Given the description of an element on the screen output the (x, y) to click on. 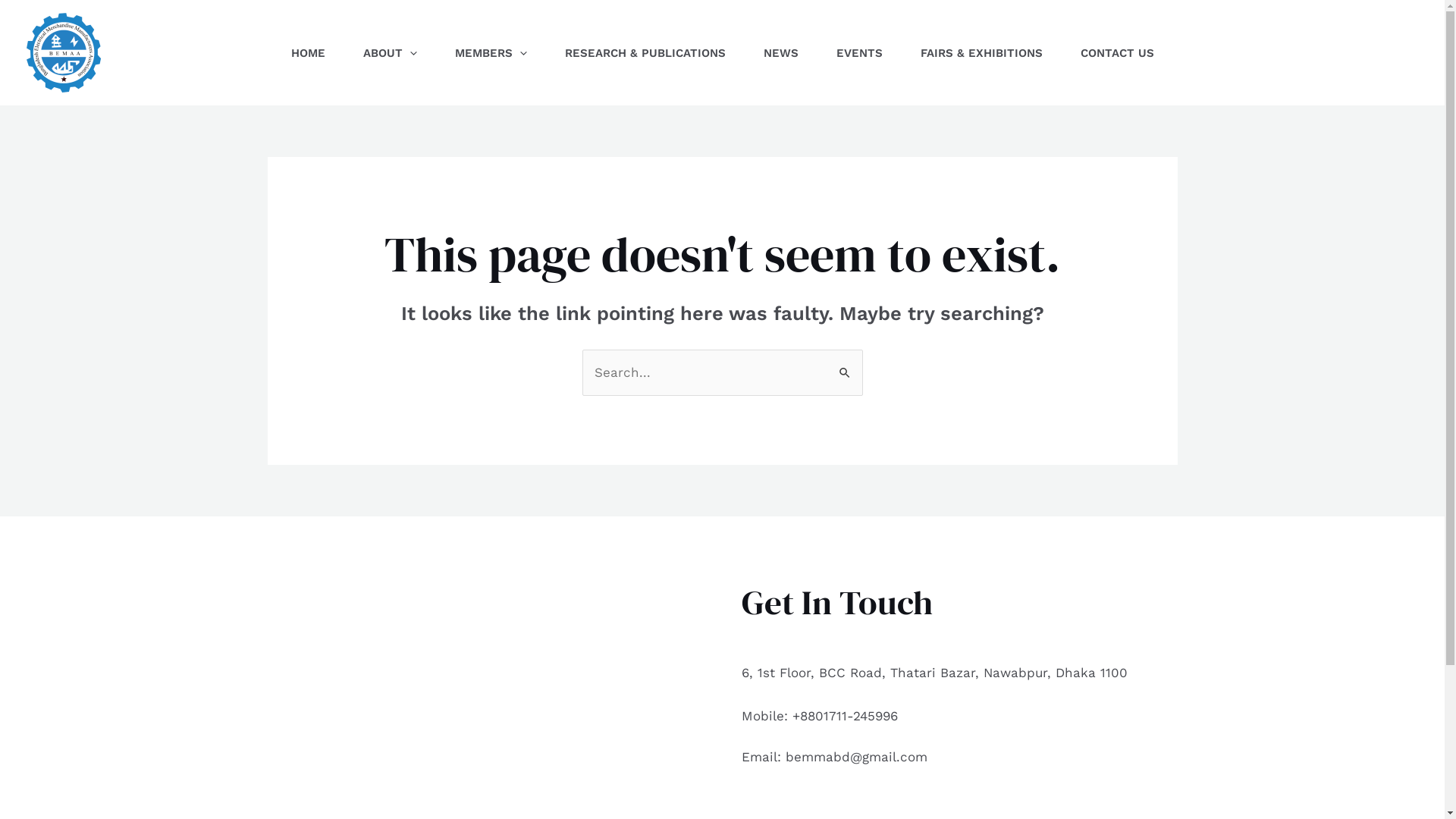
MEMBERS Element type: text (490, 52)
ABOUT Element type: text (390, 52)
RESEARCH & PUBLICATIONS Element type: text (645, 52)
NEWS Element type: text (780, 52)
HOME Element type: text (307, 52)
FAIRS & EXHIBITIONS Element type: text (980, 52)
Search Element type: text (845, 364)
CONTACT US Element type: text (1117, 52)
EVENTS Element type: text (859, 52)
